Given the description of an element on the screen output the (x, y) to click on. 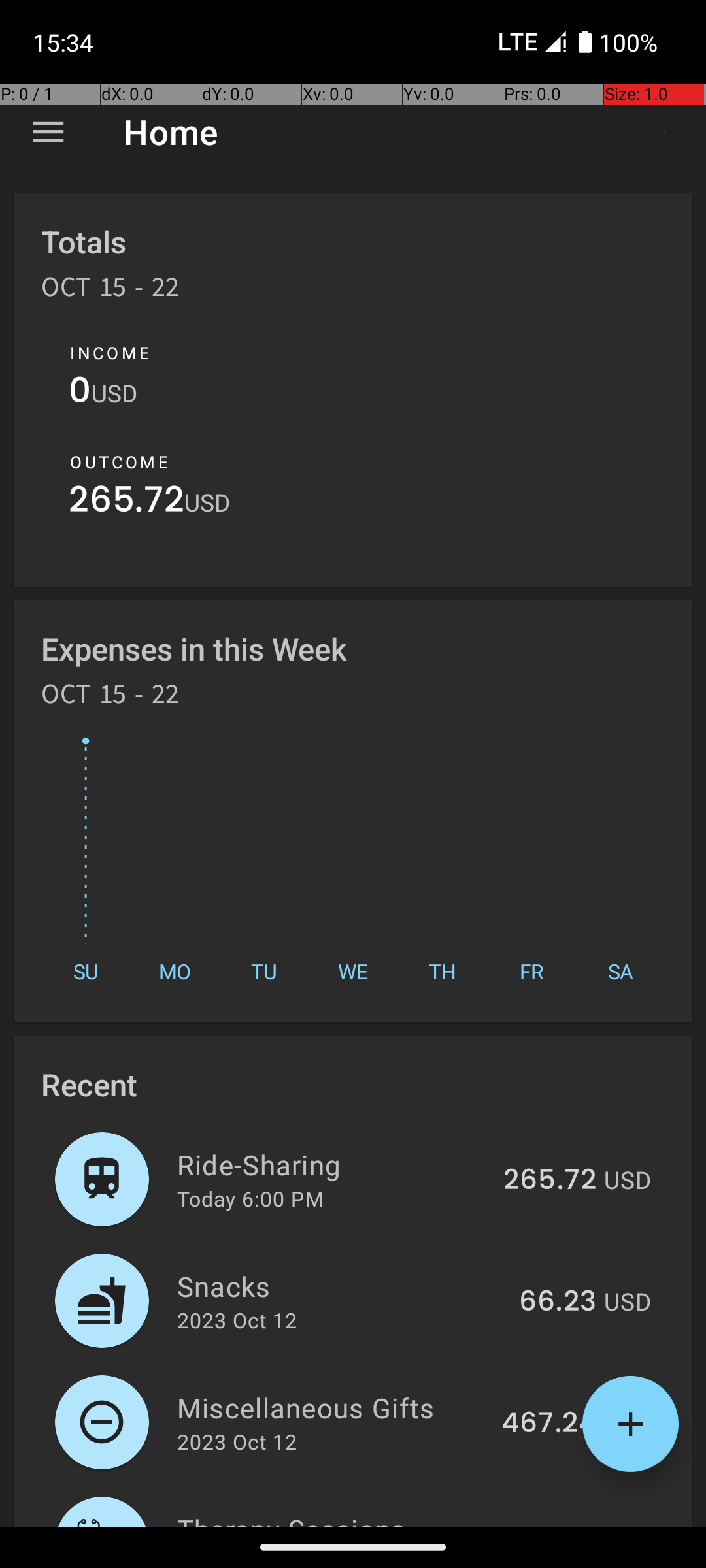
265.72 Element type: android.widget.TextView (126, 502)
Today 6:00 PM Element type: android.widget.TextView (250, 1198)
Snacks Element type: android.widget.TextView (340, 1285)
66.23 Element type: android.widget.TextView (557, 1301)
Miscellaneous Gifts Element type: android.widget.TextView (331, 1407)
467.24 Element type: android.widget.TextView (548, 1423)
Therapy Sessions Element type: android.widget.TextView (339, 1518)
85.76 Element type: android.widget.TextView (556, 1524)
